Given the description of an element on the screen output the (x, y) to click on. 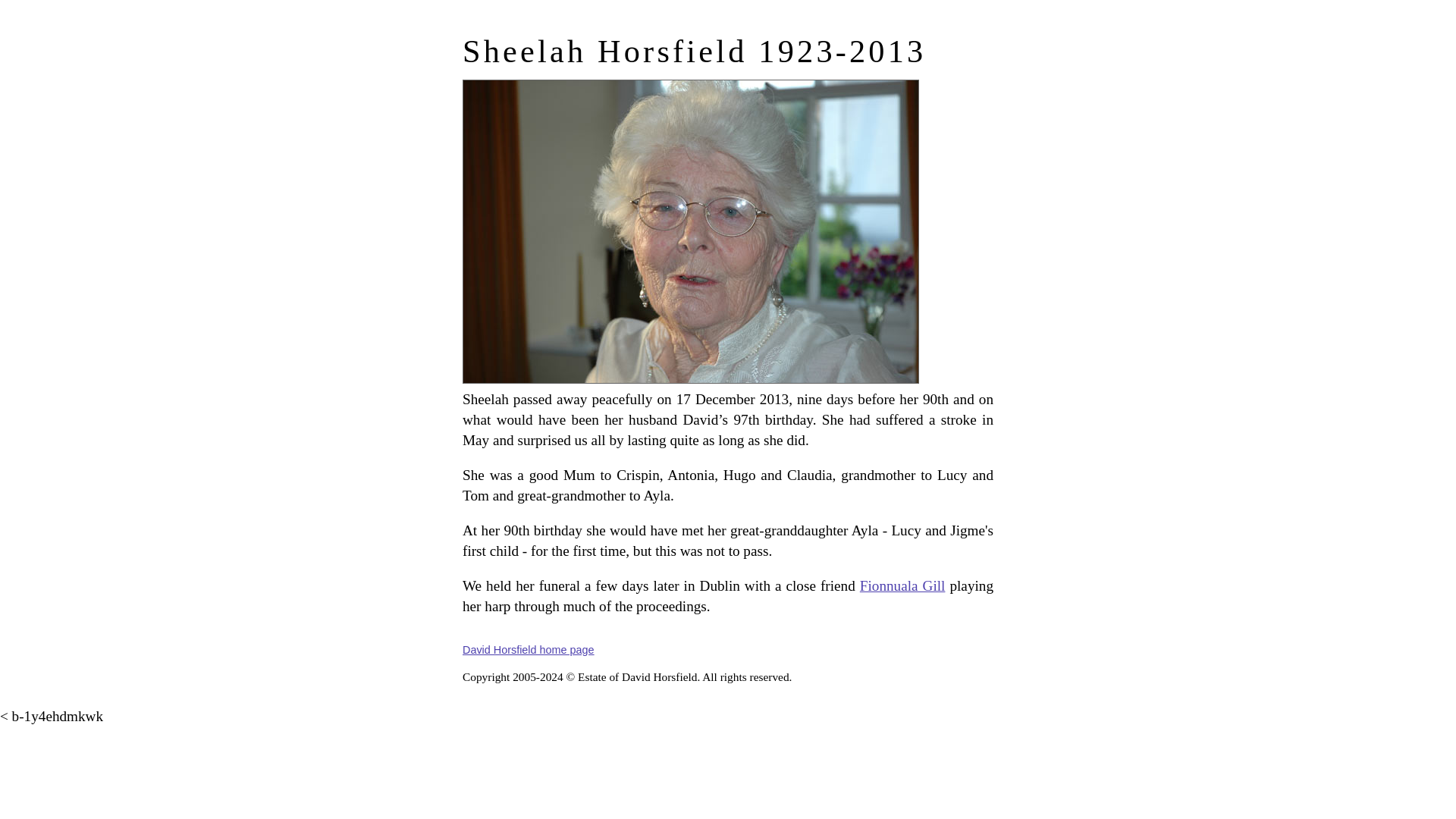
Fionnuala Gill (902, 585)
David Horsfield home page (528, 649)
